Given the description of an element on the screen output the (x, y) to click on. 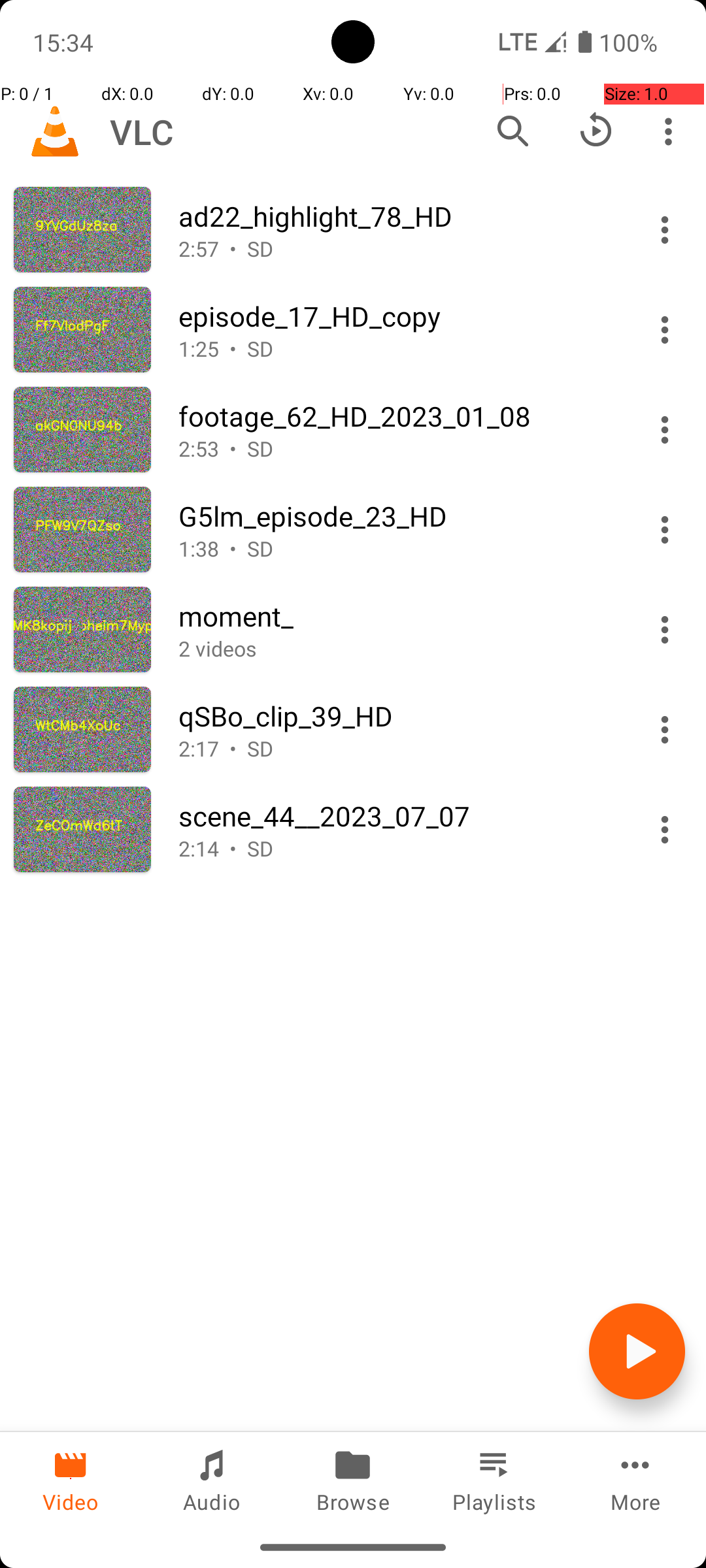
Resume playback Element type: android.widget.TextView (595, 131)
Play Element type: android.widget.ImageButton (637, 1351)
Video: ad22_highlight_78_HD, Duration: 2 minutes 57 seconds Element type: android.view.ViewGroup (353, 229)
Video: episode_17_HD_copy, Duration: 1 minutes 25 seconds Element type: android.view.ViewGroup (353, 329)
Video: footage_62_HD_2023_01_08, Duration: 2 minutes 53 seconds Element type: android.view.ViewGroup (353, 429)
Video: G5lm_episode_23_HD, Duration: 1 minutes 38 seconds Element type: android.view.ViewGroup (353, 529)
Video group: moment_, 2 videos Element type: android.view.ViewGroup (353, 629)
Video: qSBo_clip_39_HD, Duration: 2 minutes 17 seconds Element type: android.view.ViewGroup (353, 729)
Video: scene_44__2023_07_07, Duration: 2 minutes 14 seconds Element type: android.view.ViewGroup (353, 829)
ad22_highlight_78_HD Element type: android.widget.TextView (397, 215)
2:57  •  SD Element type: android.widget.TextView (397, 248)
More Actions Element type: android.widget.ImageView (664, 229)
episode_17_HD_copy Element type: android.widget.TextView (397, 315)
1:25  •  SD Element type: android.widget.TextView (397, 348)
footage_62_HD_2023_01_08 Element type: android.widget.TextView (397, 415)
2:53  •  SD Element type: android.widget.TextView (397, 448)
G5lm_episode_23_HD Element type: android.widget.TextView (397, 515)
1:38  •  SD Element type: android.widget.TextView (397, 548)
moment_ Element type: android.widget.TextView (397, 615)
2 videos Element type: android.widget.TextView (397, 648)
qSBo_clip_39_HD Element type: android.widget.TextView (397, 715)
2:17  •  SD Element type: android.widget.TextView (397, 748)
scene_44__2023_07_07 Element type: android.widget.TextView (397, 815)
2:14  •  SD Element type: android.widget.TextView (397, 848)
